Given the description of an element on the screen output the (x, y) to click on. 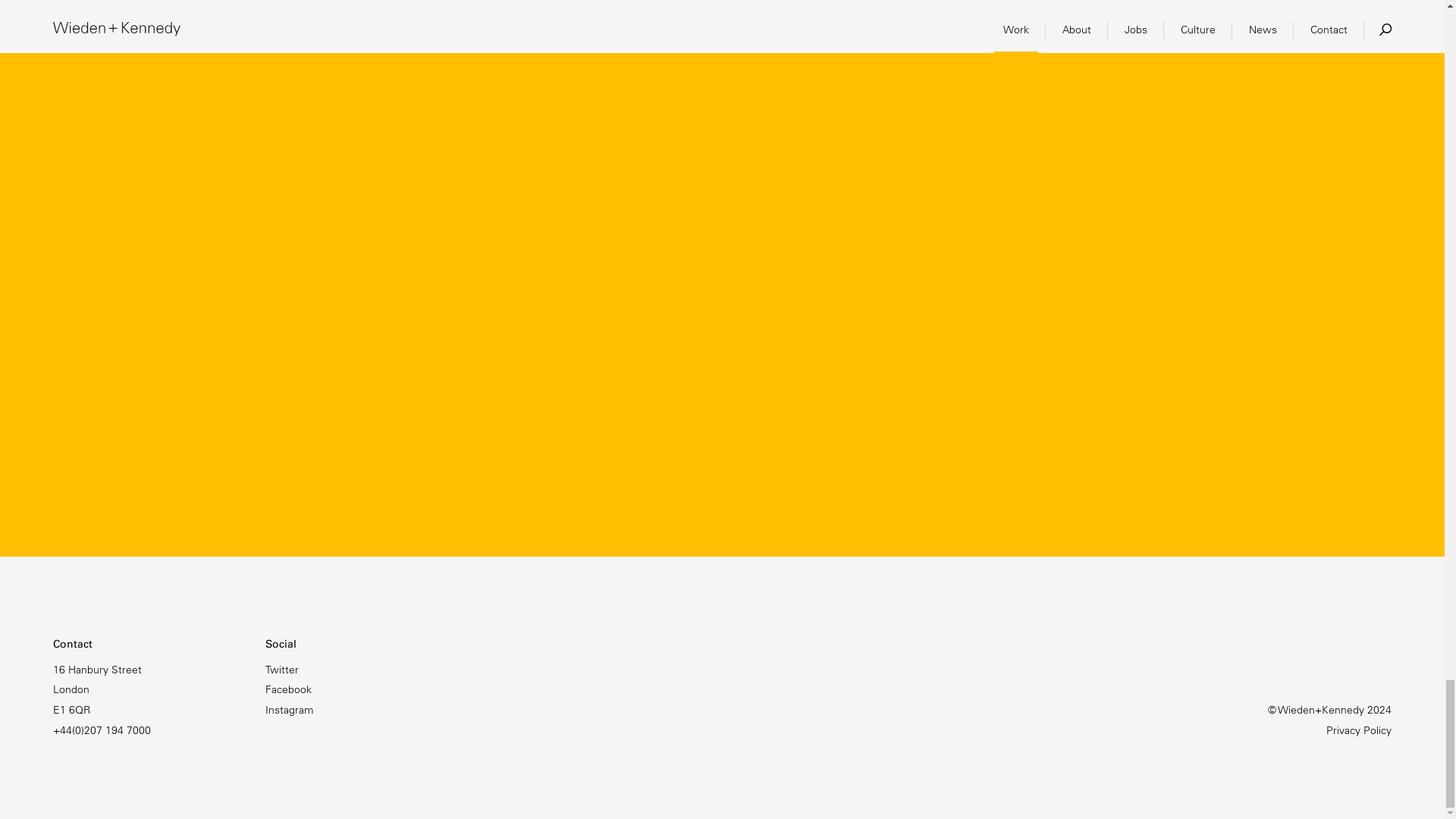
Twitter (281, 669)
Instagram (288, 709)
Privacy Policy (1358, 730)
Facebook (287, 689)
